Given the description of an element on the screen output the (x, y) to click on. 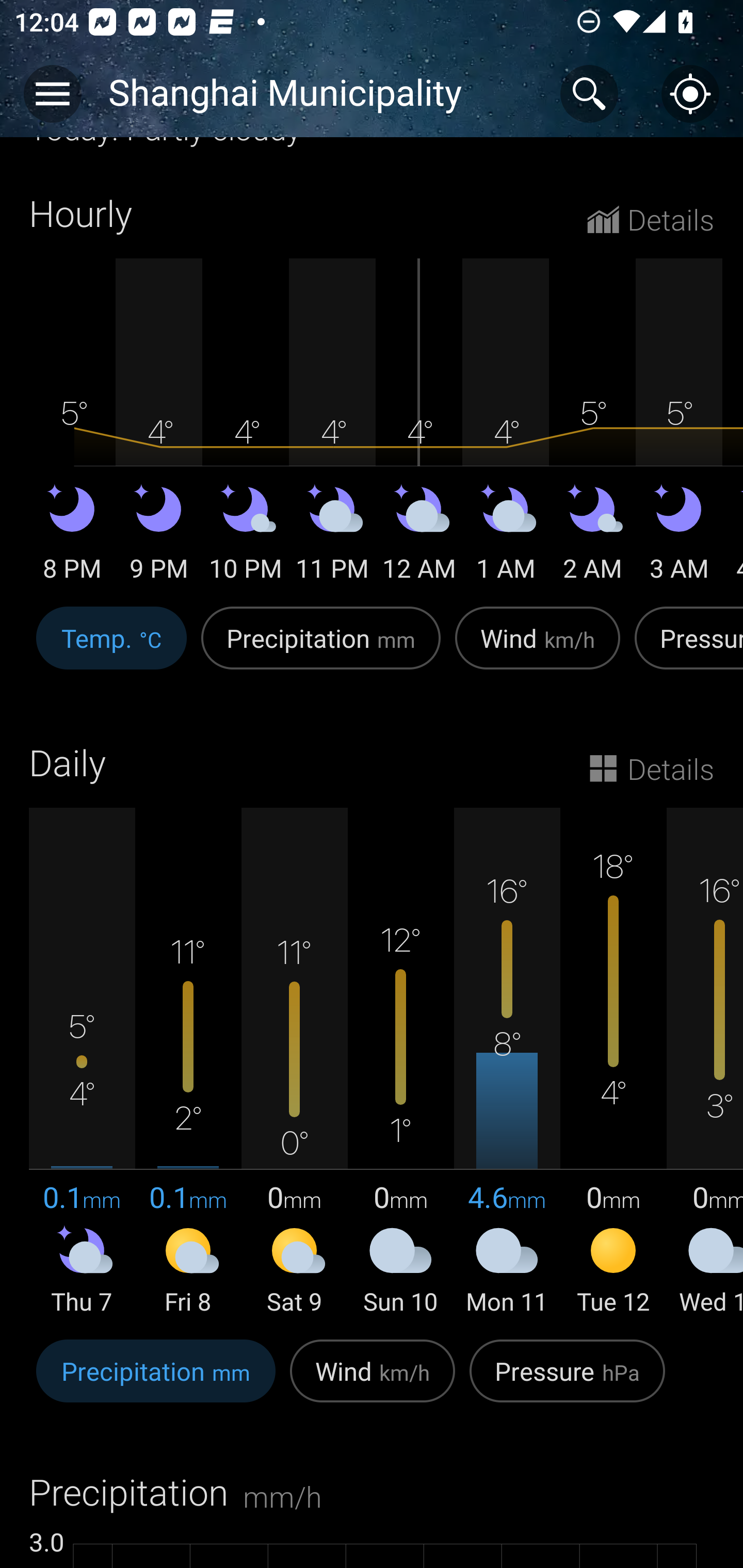
8 PM 9 PM 10 PM 11 PM 12 AM 1 AM 2 AM 3 AM 4 AM (371, 421)
8 PM (71, 536)
9 PM (158, 536)
10 PM (245, 536)
11 PM (332, 536)
12 AM (418, 536)
1 AM (505, 536)
2 AM (592, 536)
3 AM (679, 536)
Temp. °C (110, 647)
Precipitation mm (320, 647)
Wind km/h (537, 647)
5° 4° 0.1 mm Thu 7 (81, 1062)
11° 2° 0.1 mm Fri 8 (188, 1062)
11° 0° 0 mm Sat 9 (294, 1062)
12° 1° 0 mm Sun 10 (400, 1062)
16° 8° 4.6 mm Mon 11 (506, 1062)
18° 4° 0 mm Tue 12 (613, 1062)
16° 3° 0 mm Wed 13 (704, 1062)
Precipitation mm (155, 1381)
Wind km/h (372, 1381)
Pressure hPa (567, 1381)
